Given the description of an element on the screen output the (x, y) to click on. 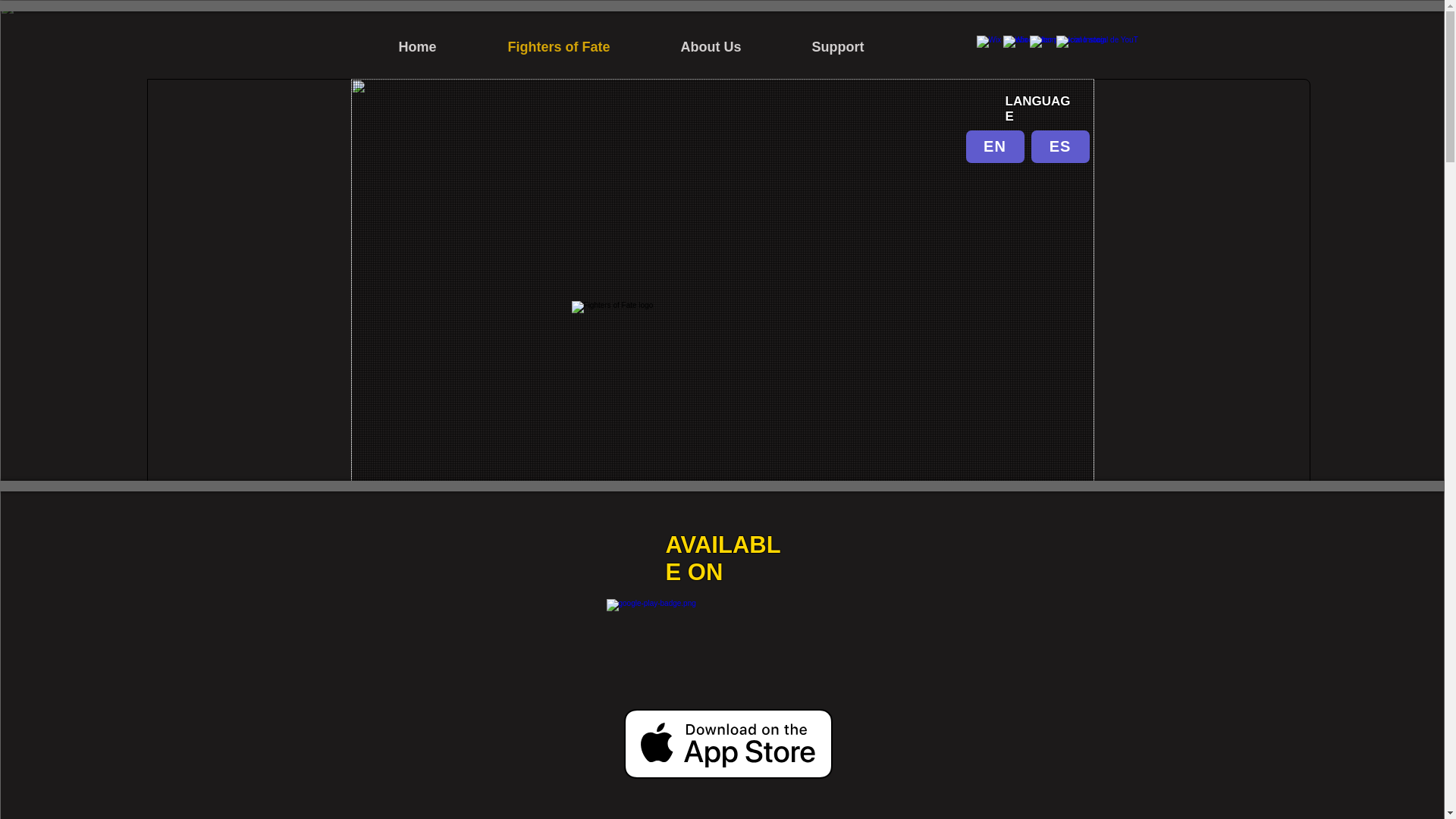
About Us (711, 46)
EN (995, 146)
Support (837, 46)
Home (416, 46)
ES (1059, 146)
Fighters of Fate (558, 46)
